Given the description of an element on the screen output the (x, y) to click on. 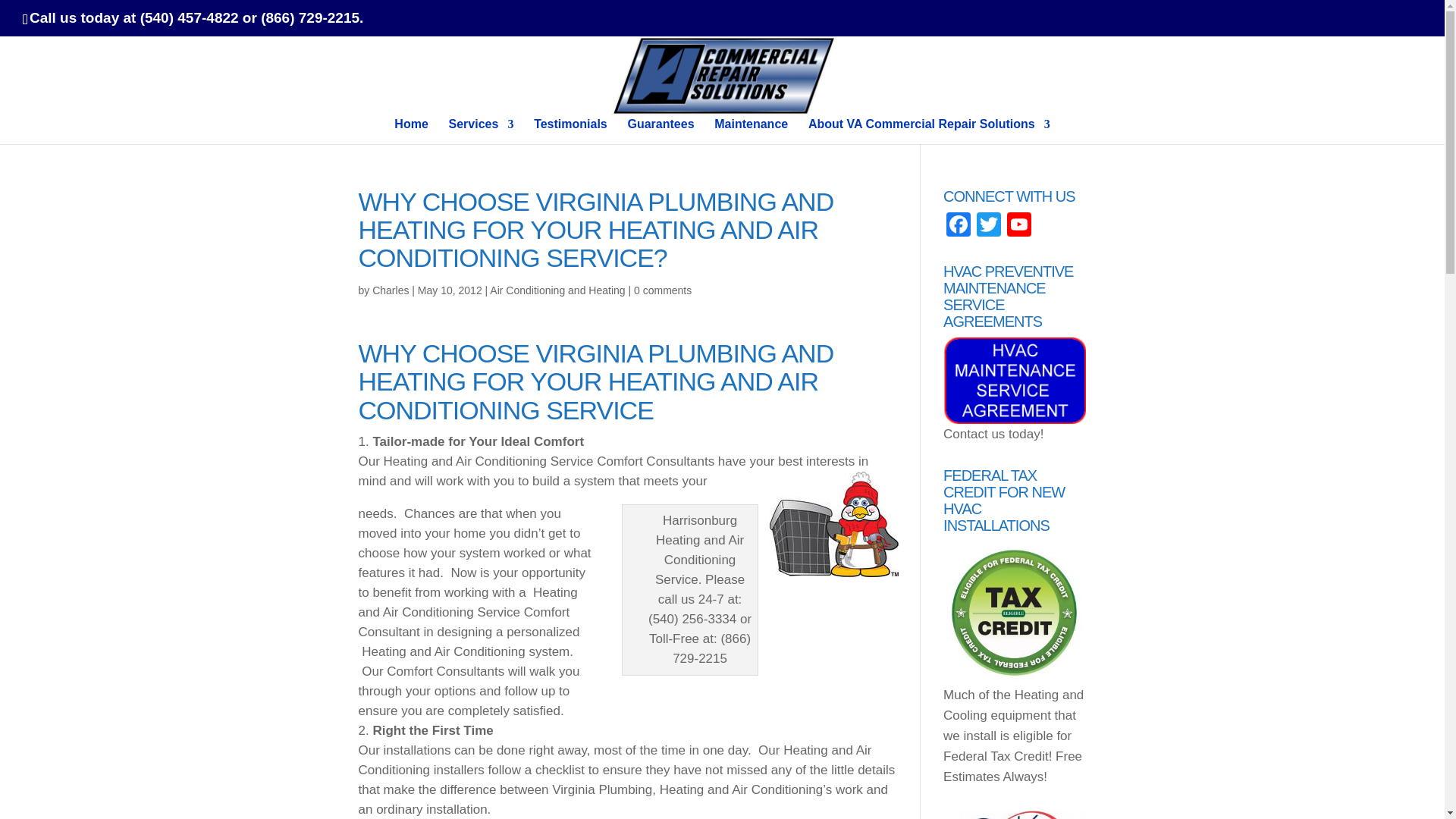
Guarantees (660, 130)
Testimonials (570, 130)
Home (411, 130)
About VA Commercial Repair Solutions (928, 130)
Annual Preventative Maintenance Service Agreement (750, 130)
Air Conditioning and Heating (556, 290)
Maintenance (750, 130)
Our Service Guarantees (660, 130)
SERVICES (480, 130)
0 comments (662, 290)
Services (480, 130)
About (928, 130)
Charles (390, 290)
